Given the description of an element on the screen output the (x, y) to click on. 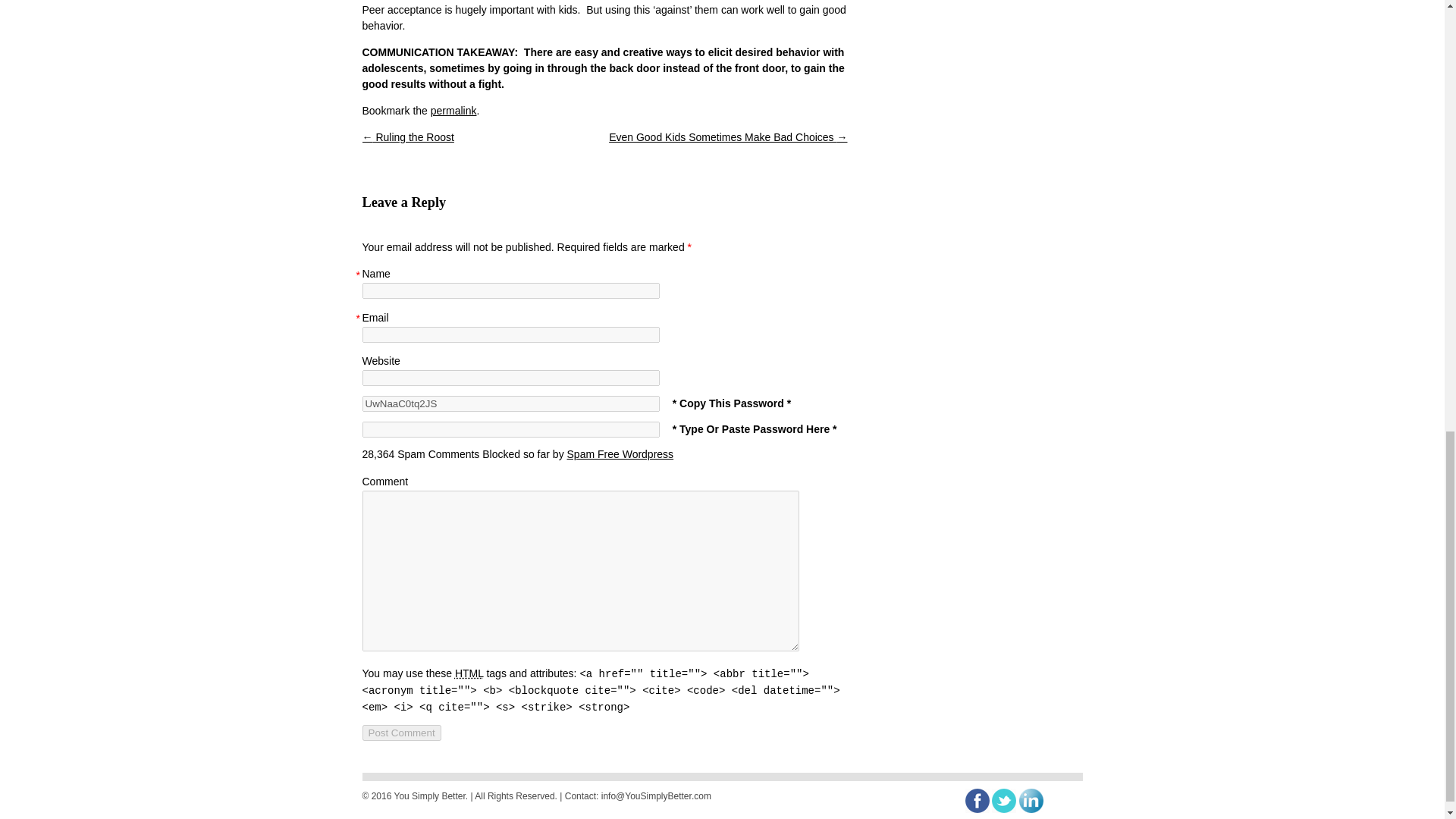
HyperText Markup Language (468, 673)
permalink (453, 110)
UwNaaC0tq2JS (510, 403)
Post Comment (401, 732)
Spam Free Wordpress (620, 453)
Spam Free Wordpress (620, 453)
Post Comment (401, 732)
